Given the description of an element on the screen output the (x, y) to click on. 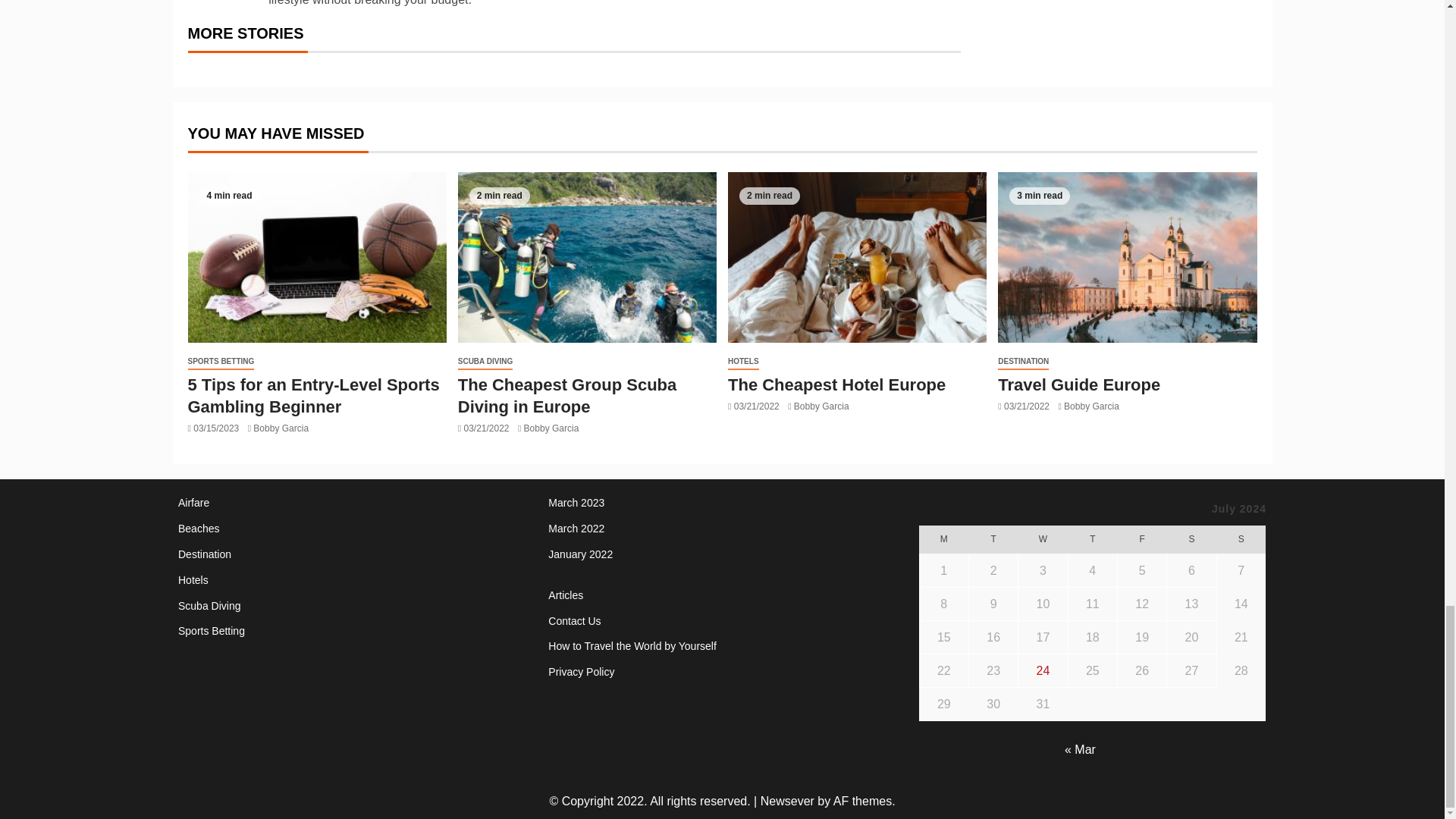
Monday (943, 539)
Friday (1141, 539)
Tuesday (992, 539)
Wednesday (1042, 539)
Sunday (1240, 539)
Saturday (1191, 539)
Thursday (1091, 539)
